Given the description of an element on the screen output the (x, y) to click on. 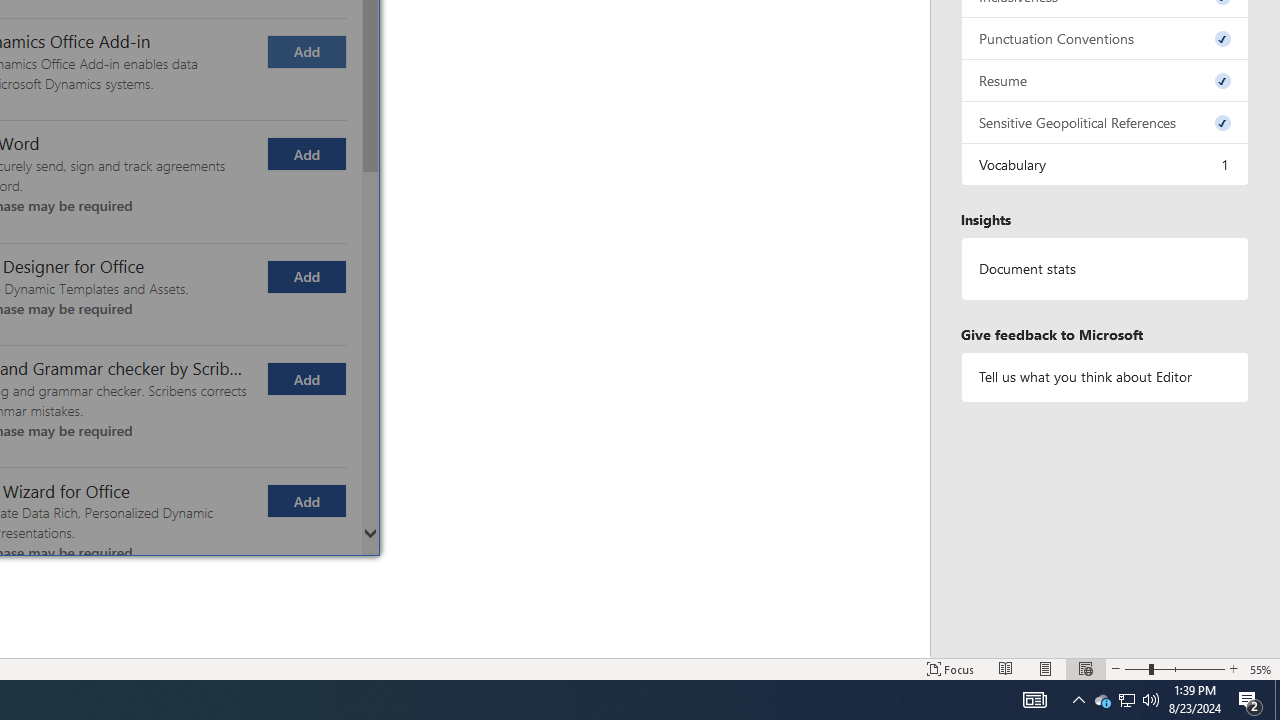
Tell us what you think about Editor (1105, 376)
Vocabulary, 1 issue. Press space or enter to review items. (1105, 164)
